Given the description of an element on the screen output the (x, y) to click on. 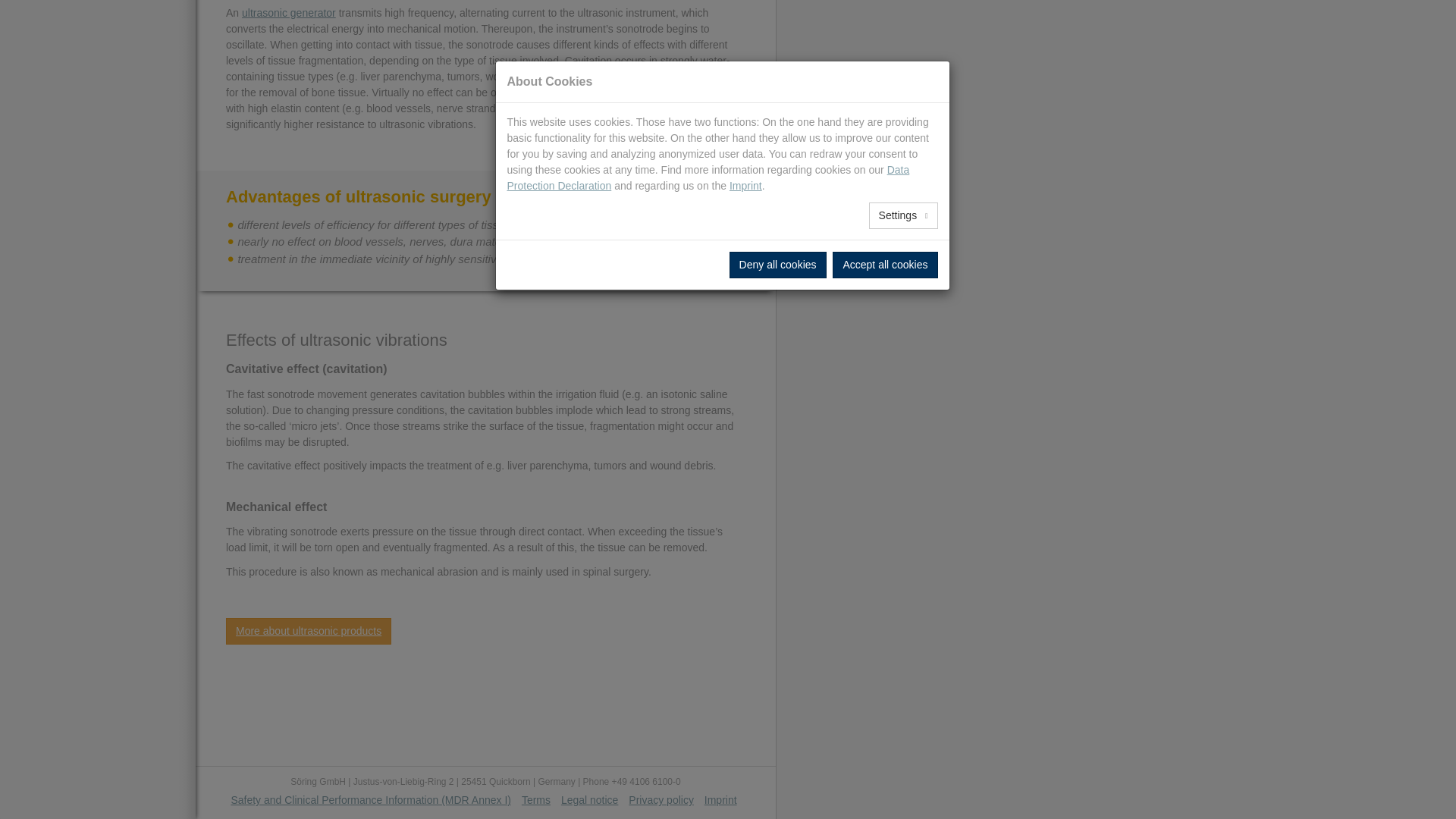
ultrasonic generator (288, 12)
More about ultrasonic generators (288, 12)
